Given the description of an element on the screen output the (x, y) to click on. 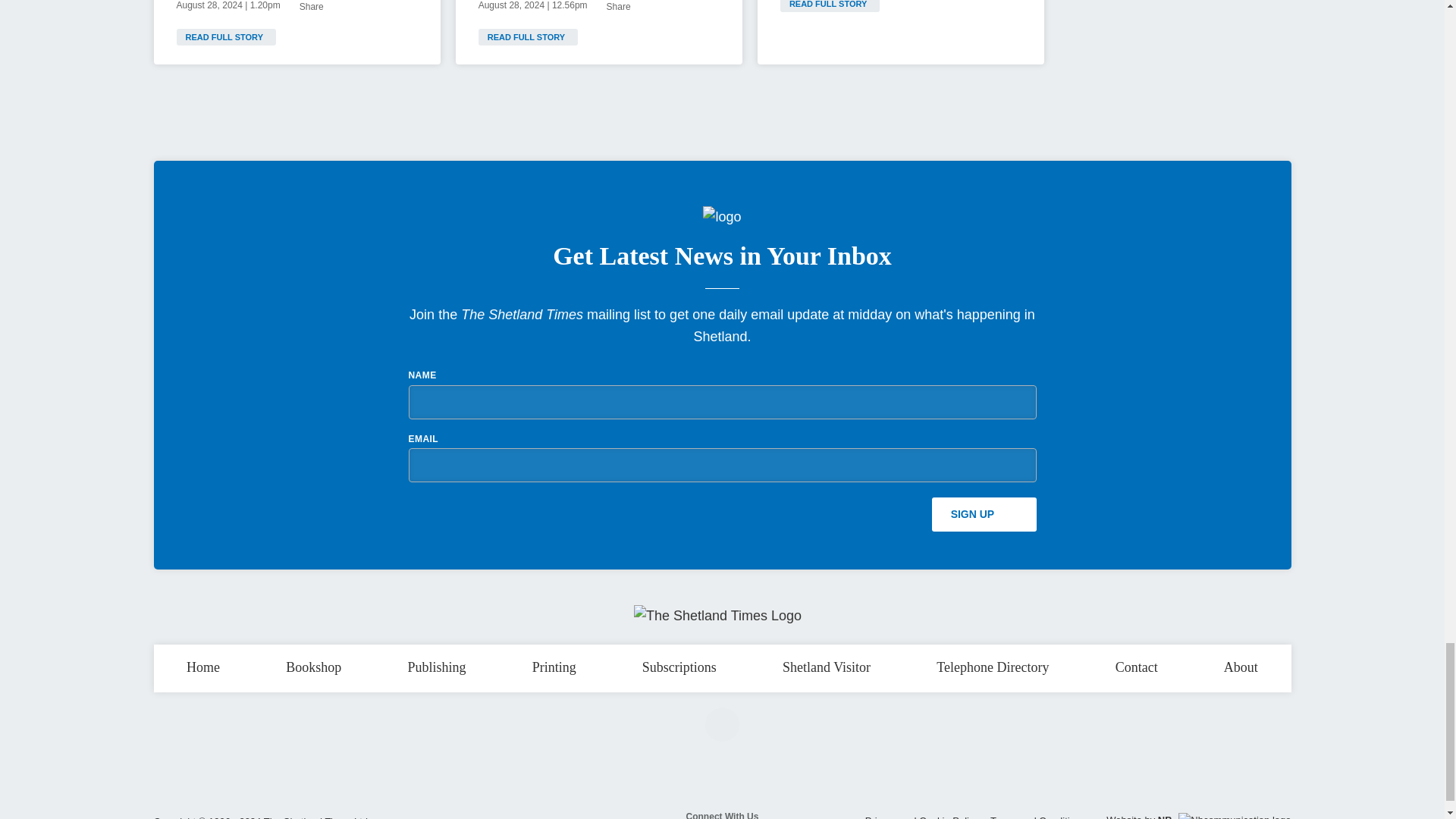
Shetland's website design and internet marketing specialists (1224, 816)
READ FULL STORY (528, 36)
READ FULL STORY (225, 36)
READ FULL STORY (829, 6)
